Given the description of an element on the screen output the (x, y) to click on. 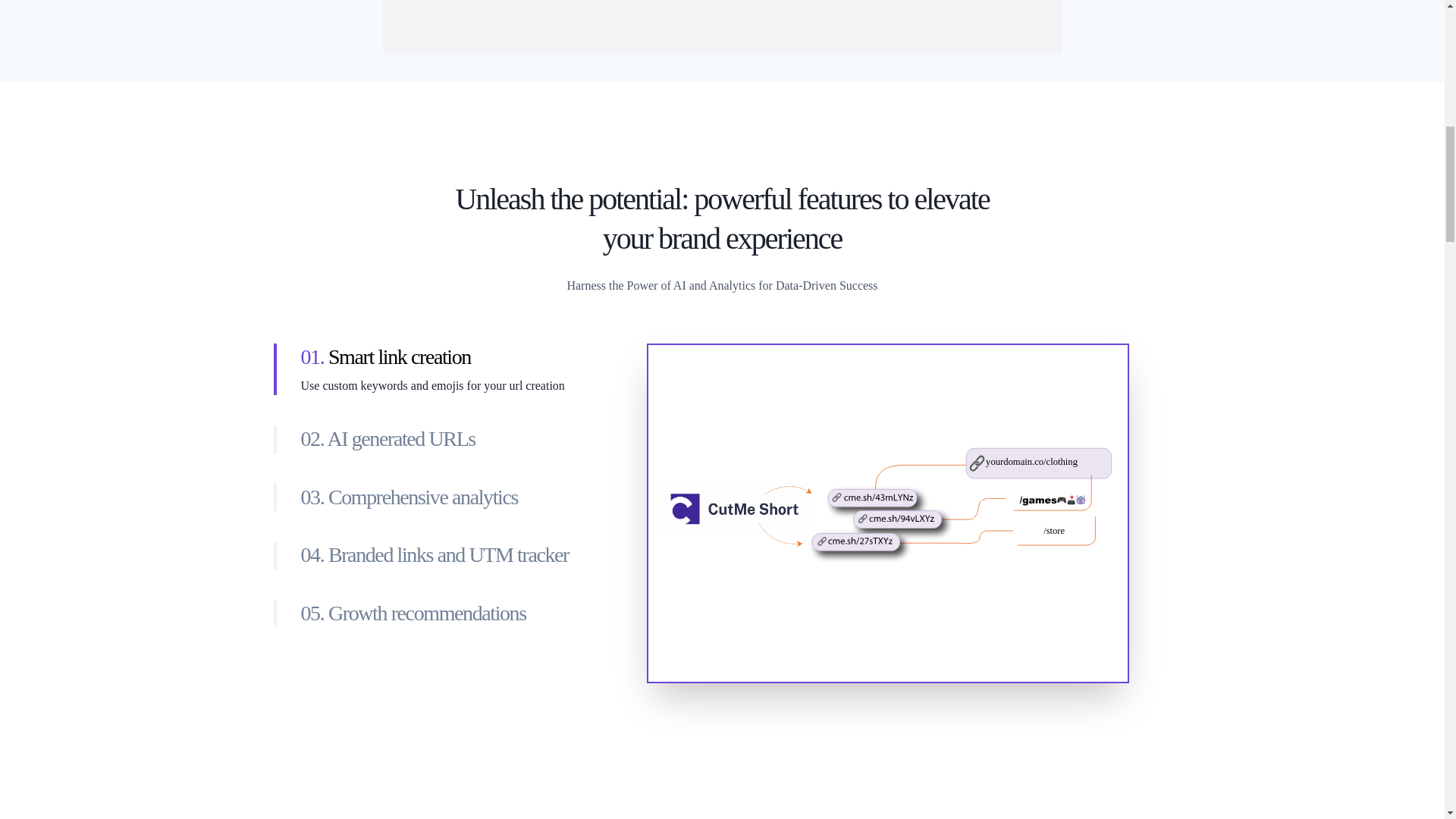
03. Comprehensive analytics (451, 497)
04. Branded links and UTM tracker (451, 554)
05. Growth recommendations (451, 613)
02. AI generated URLs (451, 438)
